Given the description of an element on the screen output the (x, y) to click on. 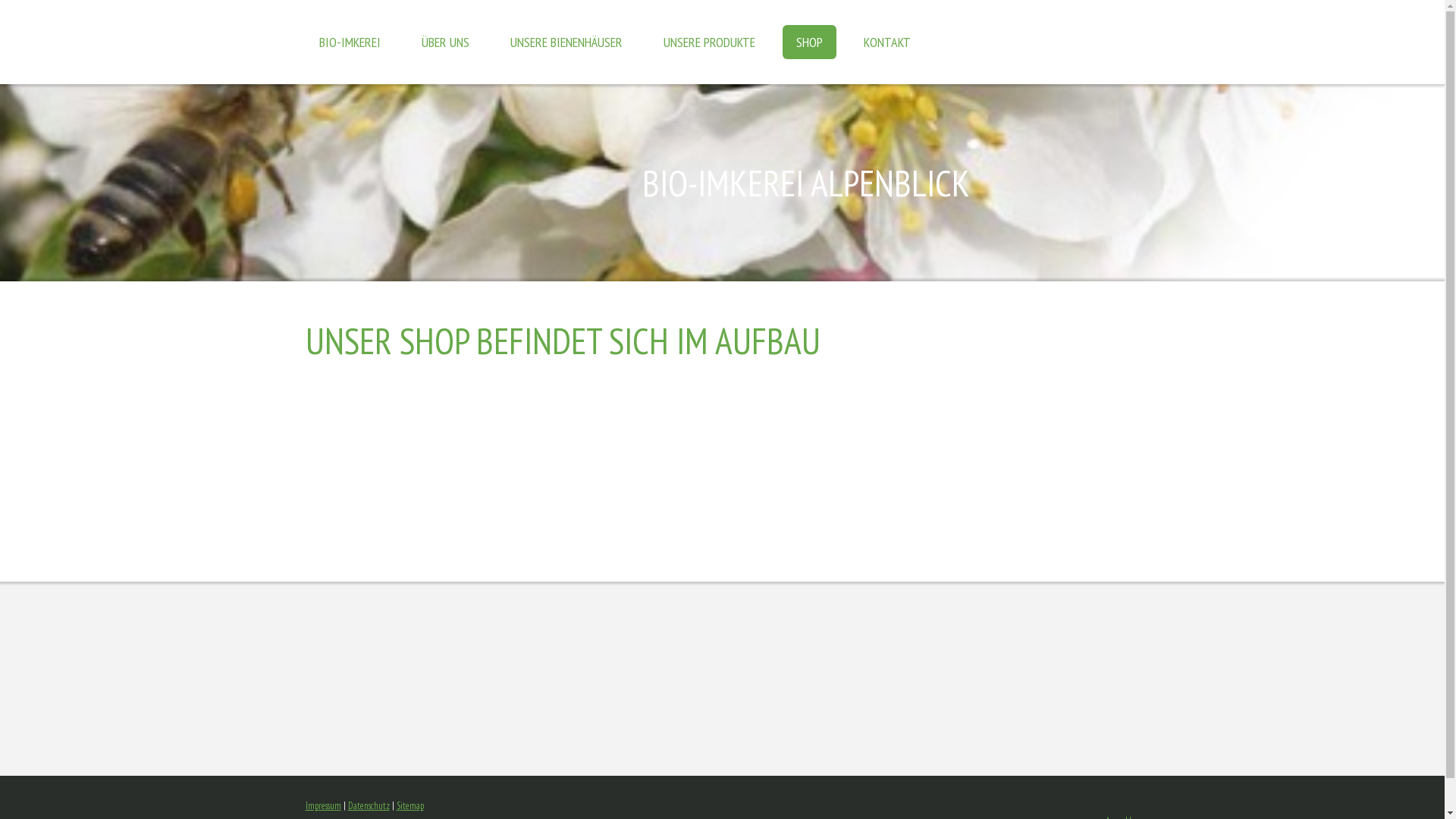
BIO-IMKEREI ALPENBLICK Element type: text (890, 182)
UNSERE PRODUKTE Element type: text (708, 42)
Impressum Element type: text (322, 805)
BIO-IMKEREI Element type: text (348, 42)
Sitemap Element type: text (409, 805)
KONTAKT Element type: text (886, 42)
SHOP Element type: text (809, 42)
Datenschutz Element type: text (368, 805)
